Given the description of an element on the screen output the (x, y) to click on. 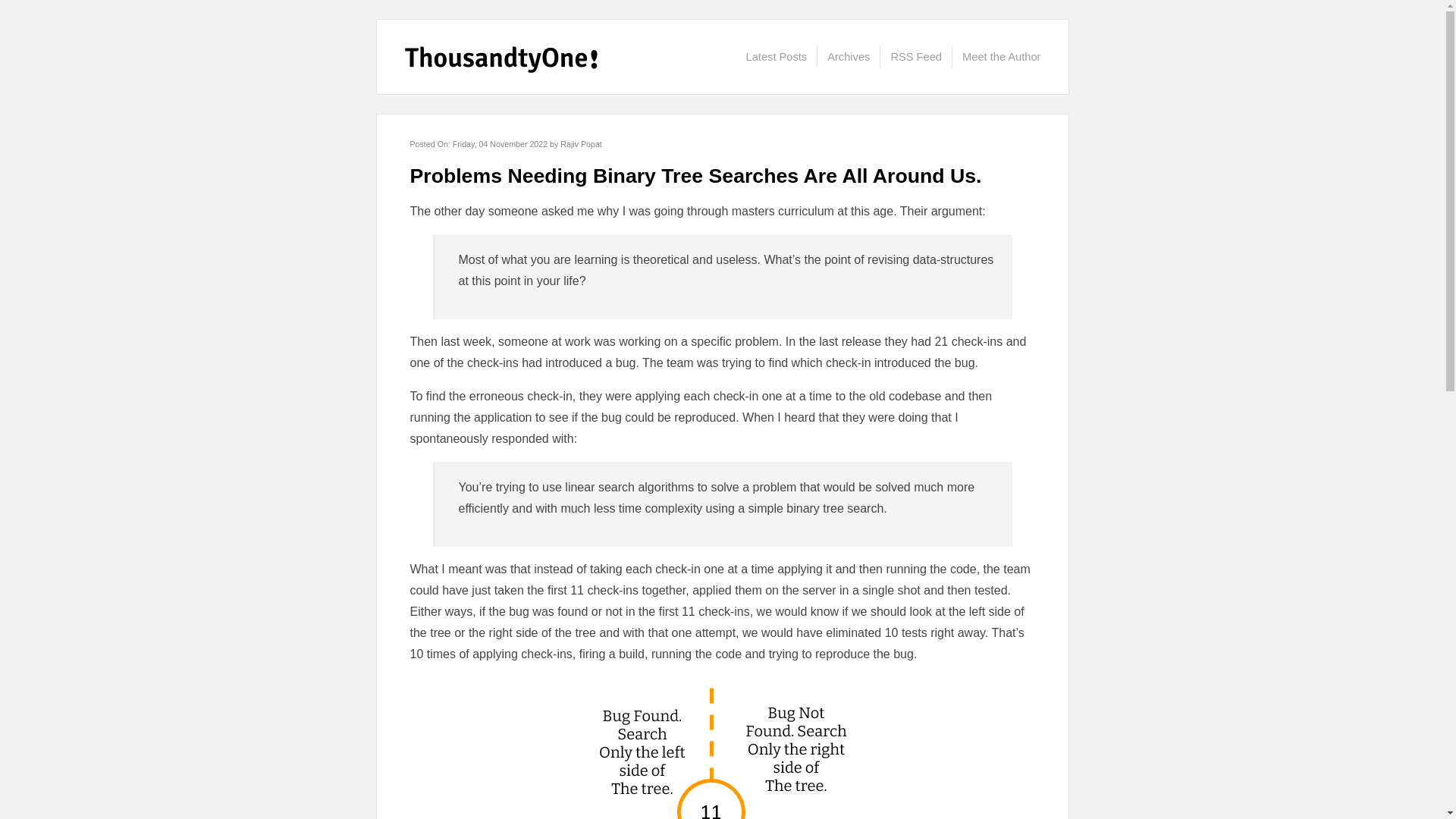
binarytreerealworld (722, 748)
Latest Posts (776, 56)
Archives (848, 56)
RSS Feed (915, 56)
Meet the Author (1001, 56)
Problems Needing Binary Tree Searches Are All Around Us. (695, 175)
